Given the description of an element on the screen output the (x, y) to click on. 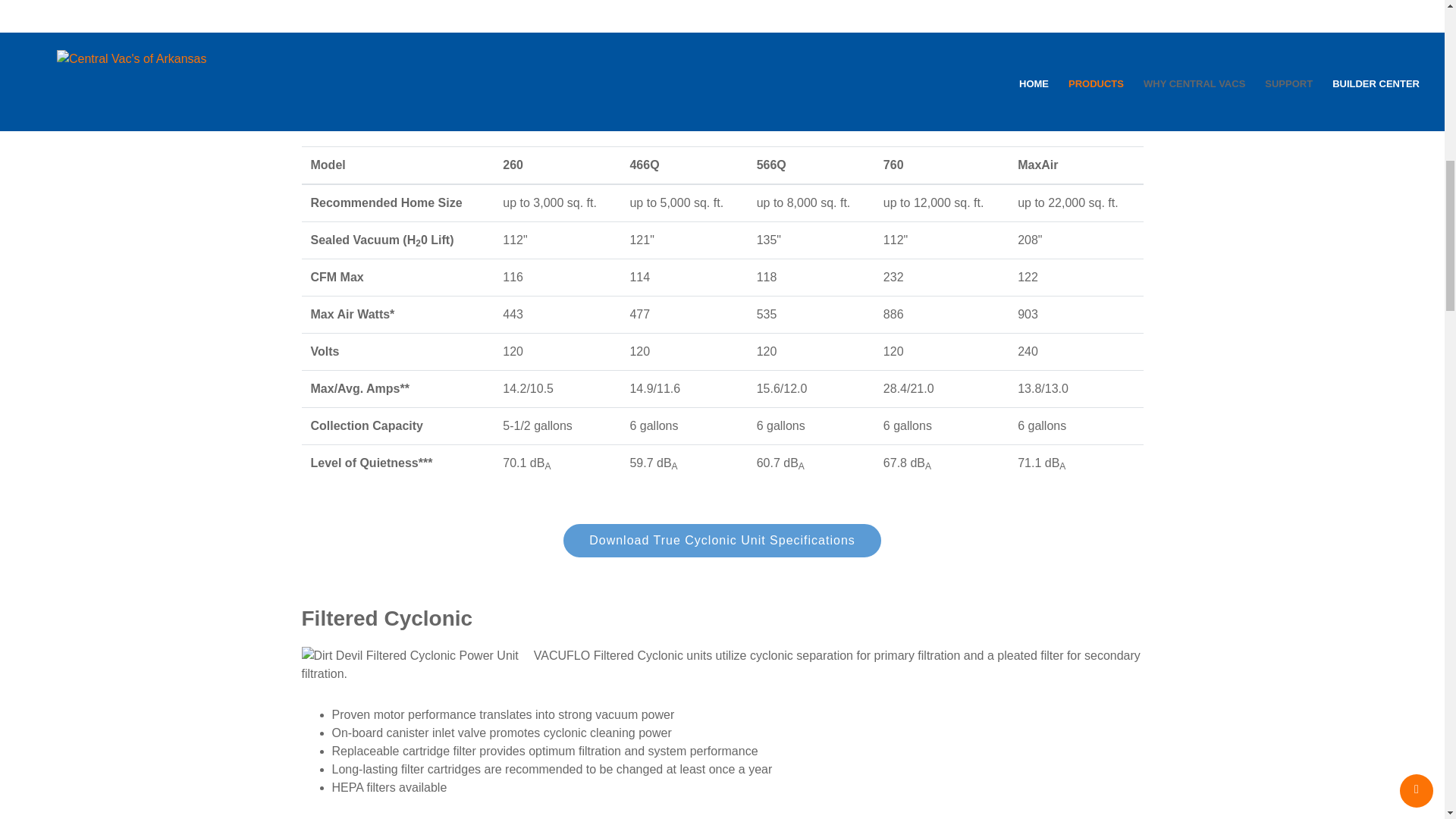
Download True Cyclonic Unit Specifications (721, 540)
